Given the description of an element on the screen output the (x, y) to click on. 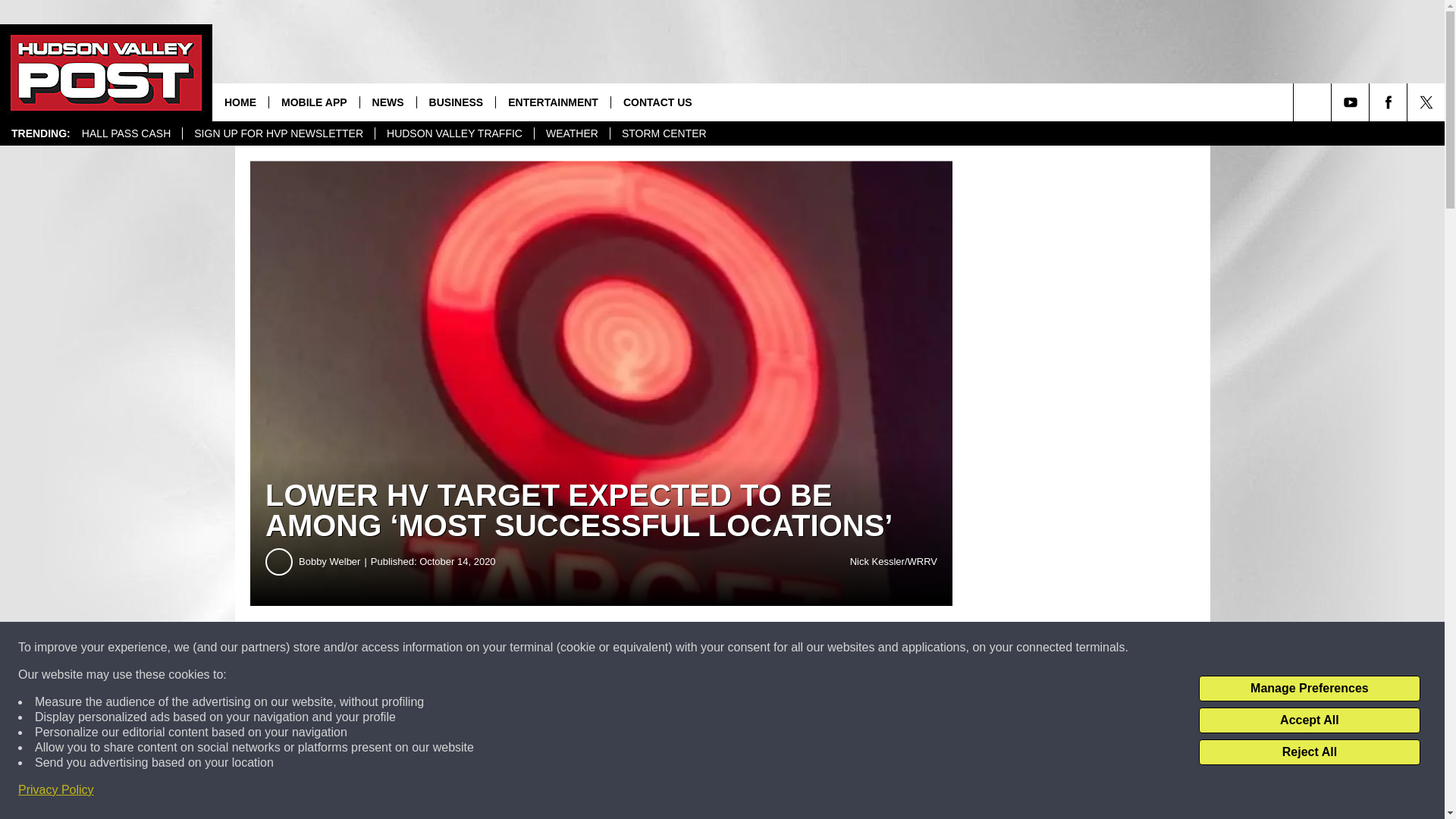
Manage Preferences (1309, 688)
BUSINESS (456, 102)
STORM CENTER (663, 133)
HALL PASS CASH (126, 133)
MOBILE APP (313, 102)
Accept All (1309, 720)
ENTERTAINMENT (552, 102)
WEATHER (572, 133)
SIGN UP FOR HVP NEWSLETTER (278, 133)
Reject All (1309, 751)
